Given the description of an element on the screen output the (x, y) to click on. 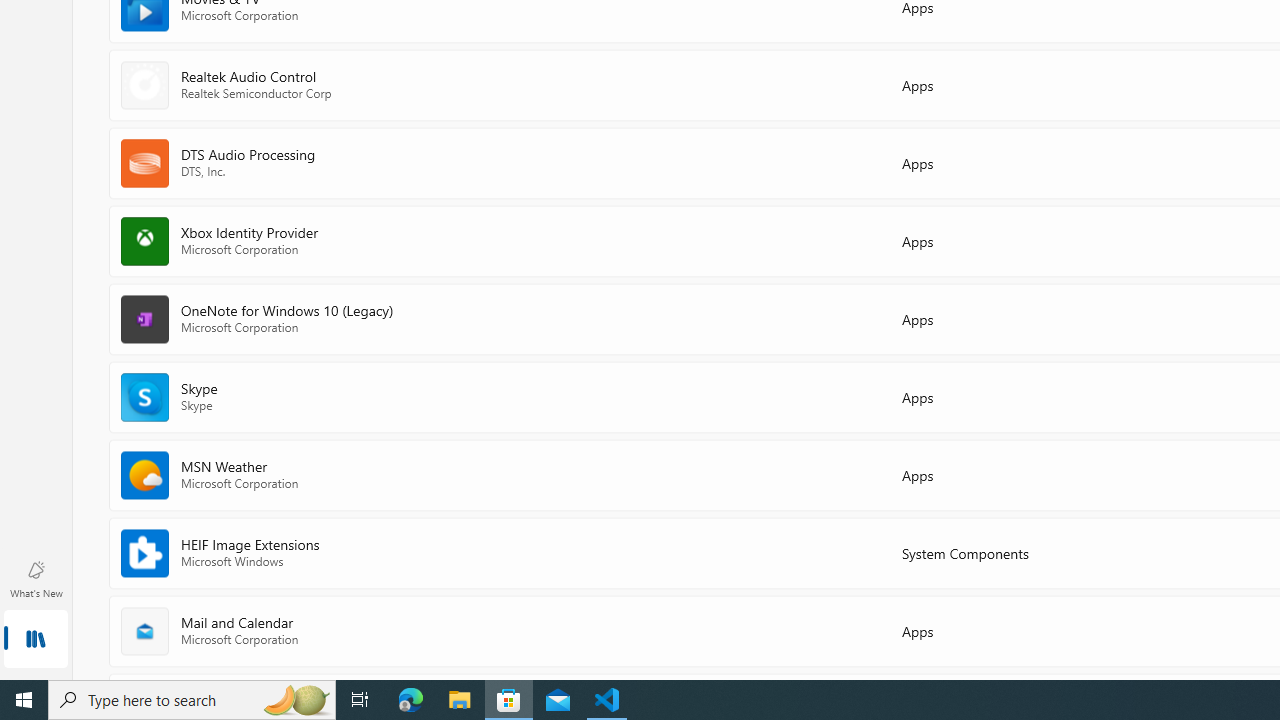
What's New (35, 578)
Library (35, 640)
